Given the description of an element on the screen output the (x, y) to click on. 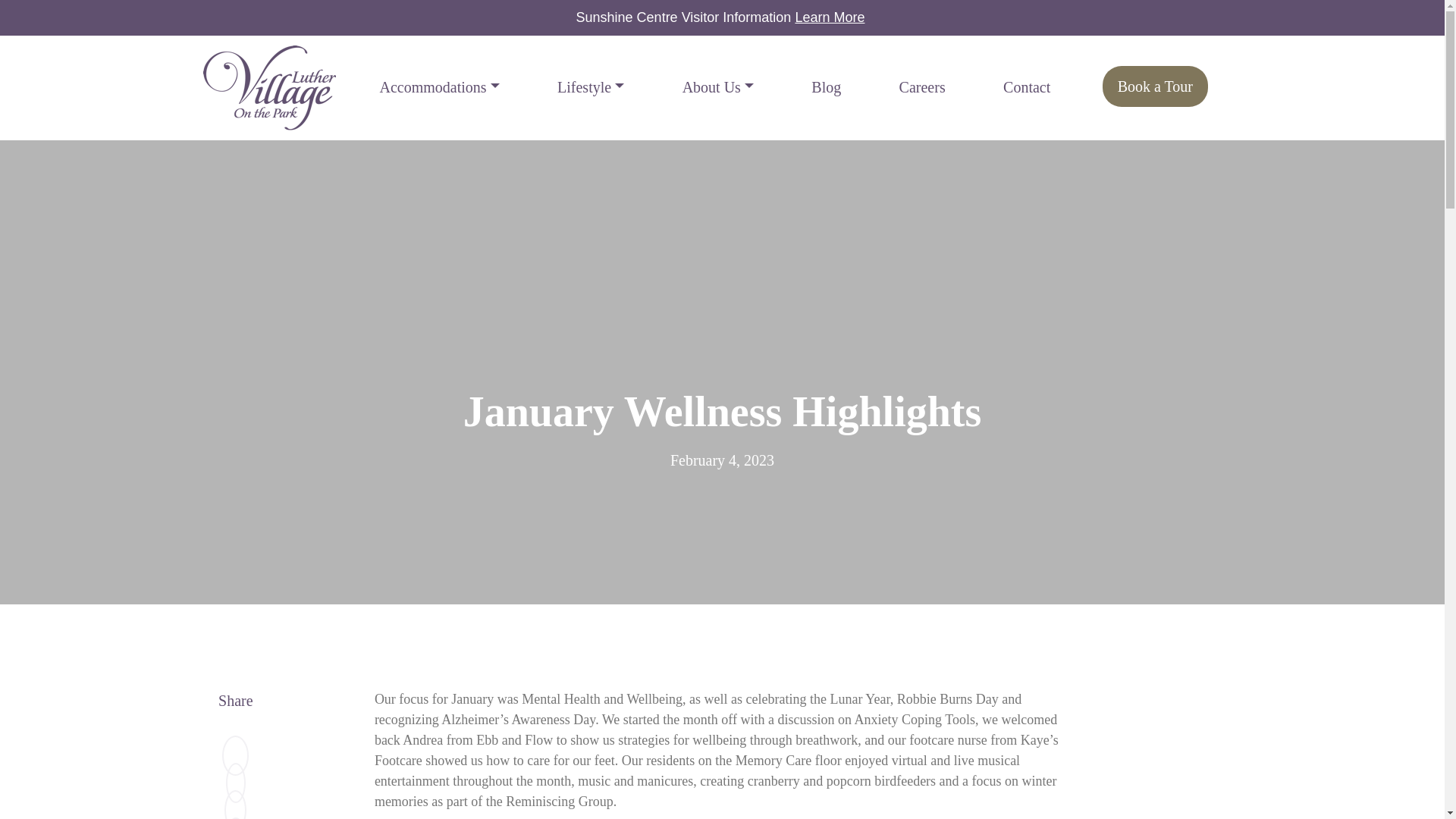
Book a Tour (1155, 85)
About Us (718, 86)
Expand menu Accommodations (438, 86)
Accommodations (438, 86)
Learn More (829, 17)
Careers (922, 86)
Lifestyle (590, 86)
Contact (1027, 86)
Expand menu About Us (718, 86)
